Given the description of an element on the screen output the (x, y) to click on. 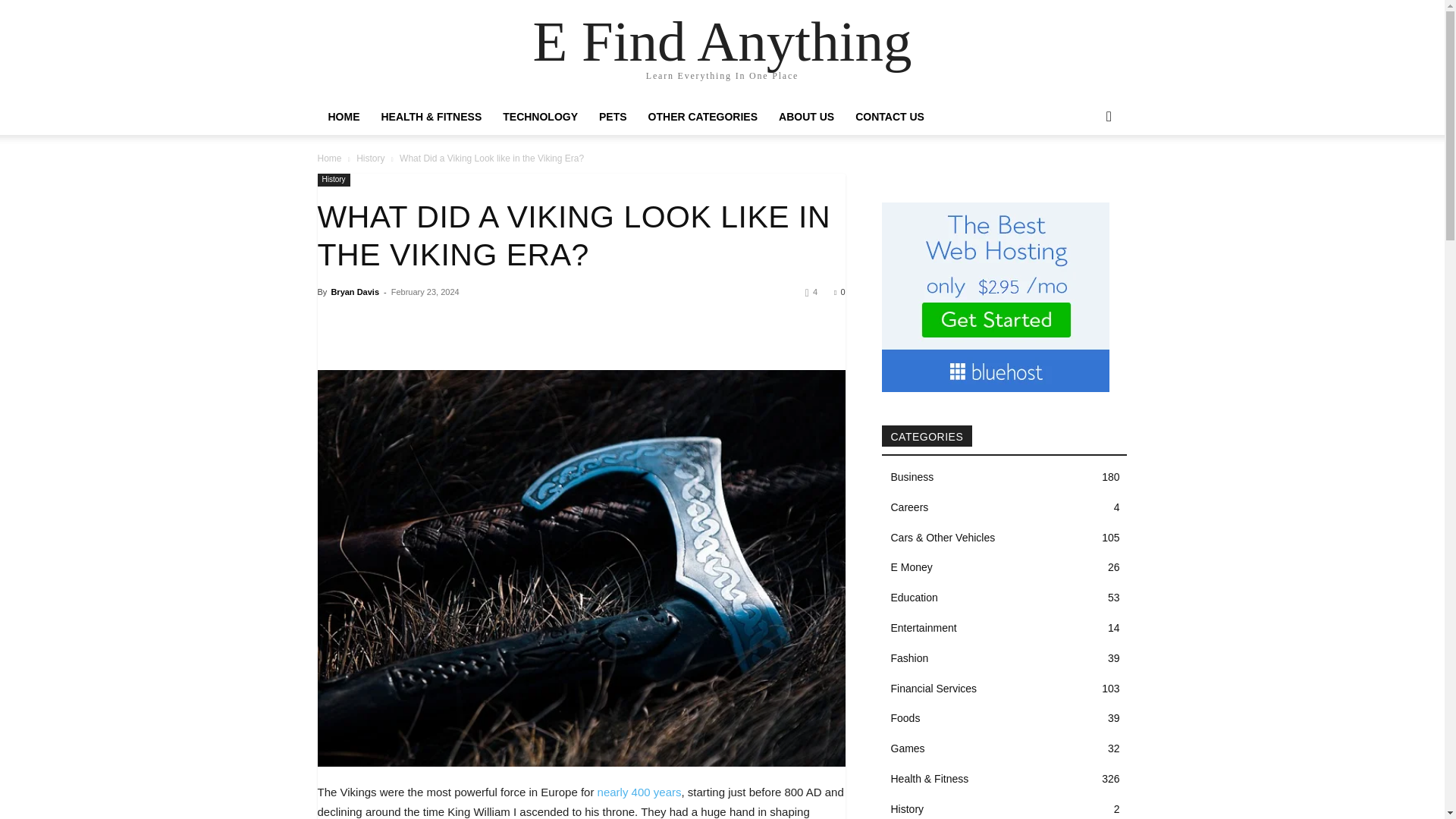
E Find Anything (721, 41)
TECHNOLOGY (540, 116)
OTHER CATEGORIES (702, 116)
View all posts in History (370, 158)
HOME (343, 116)
PETS (612, 116)
